Given the description of an element on the screen output the (x, y) to click on. 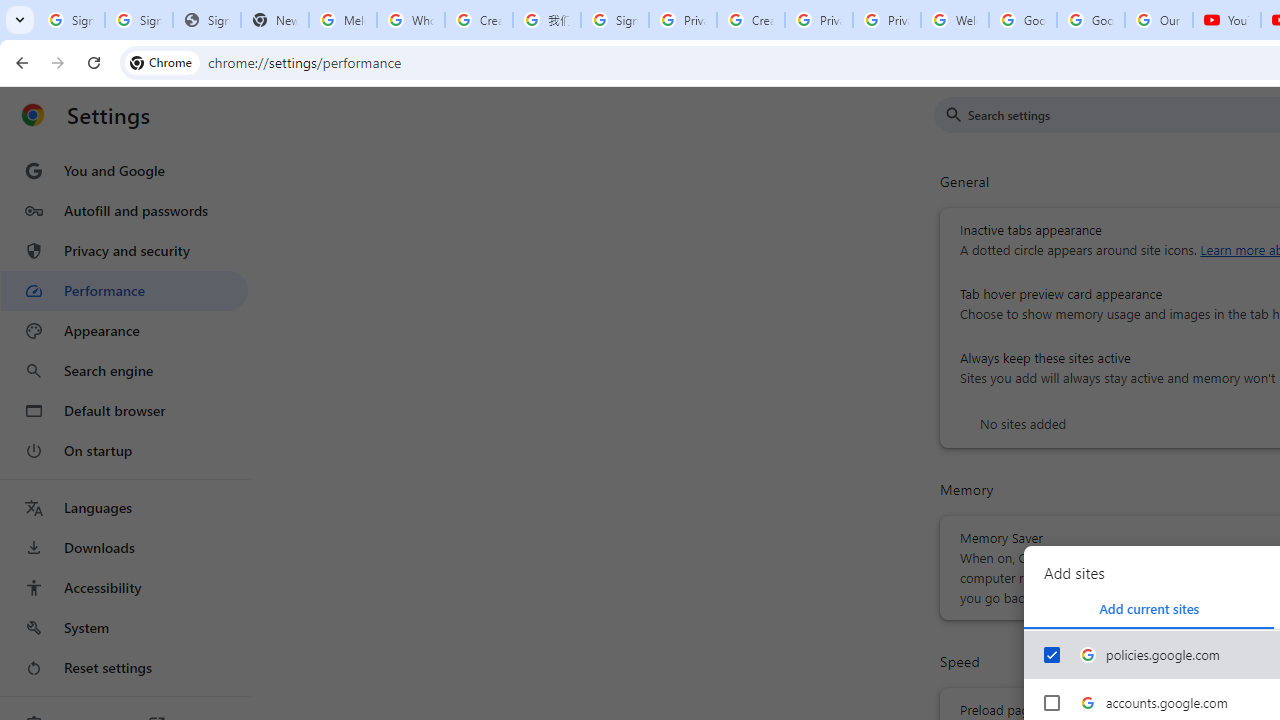
Sign in - Google Accounts (614, 20)
AutomationID: checkmark (1051, 654)
New Tab (274, 20)
Sign in - Google Accounts (138, 20)
Welcome to My Activity (954, 20)
policies.google.com (1051, 655)
Create your Google Account (750, 20)
